Given the description of an element on the screen output the (x, y) to click on. 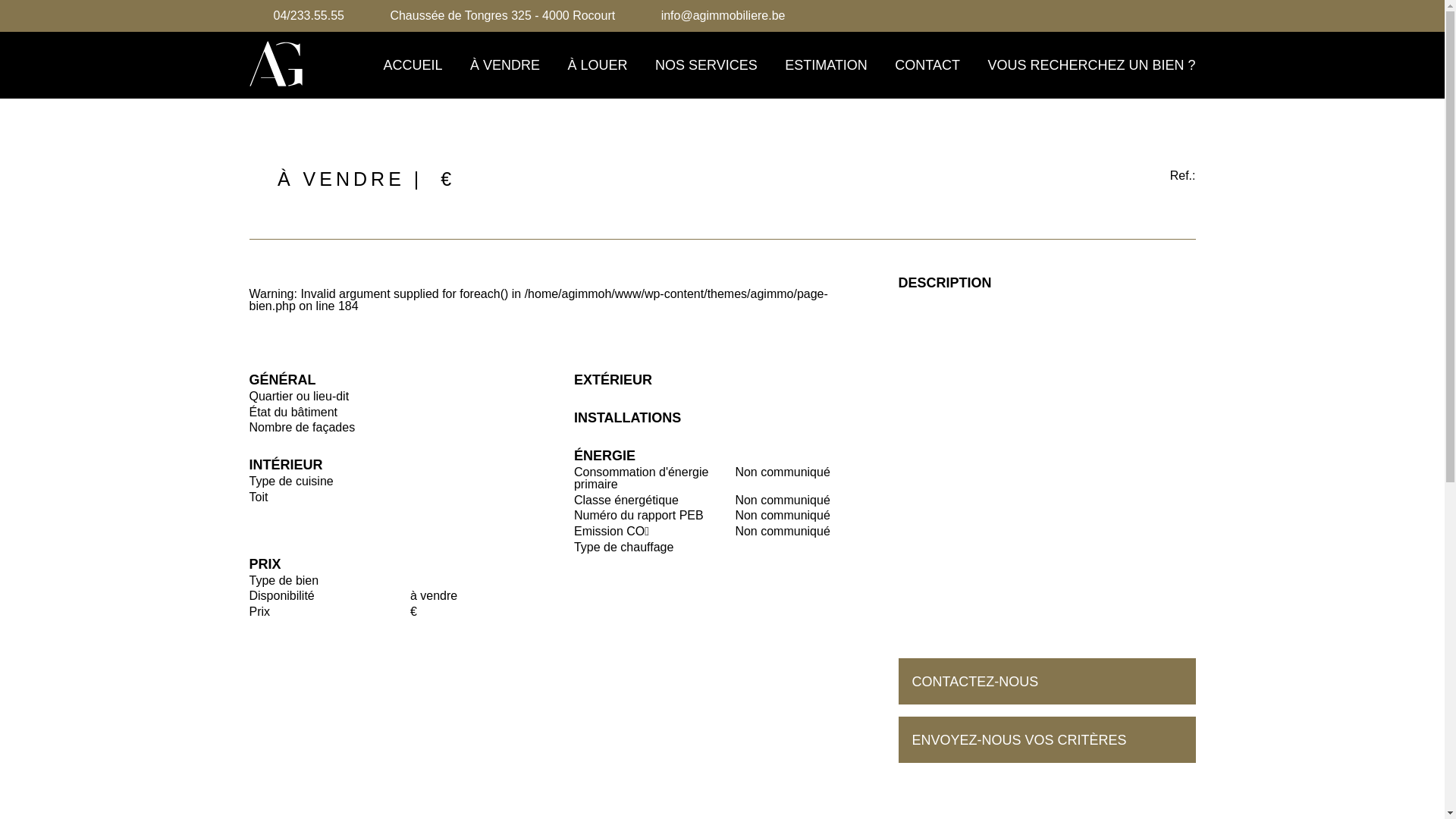
CONTACT Element type: text (927, 64)
ACCUEIL Element type: text (412, 64)
info@agimmobiliere.be Element type: text (723, 15)
VOUS RECHERCHEZ UN BIEN ? Element type: text (1091, 64)
NOS SERVICES Element type: text (706, 64)
CONTACTEZ-NOUS Element type: text (1046, 681)
ESTIMATION Element type: text (825, 64)
04/233.55.55 Element type: text (308, 15)
